Given the description of an element on the screen output the (x, y) to click on. 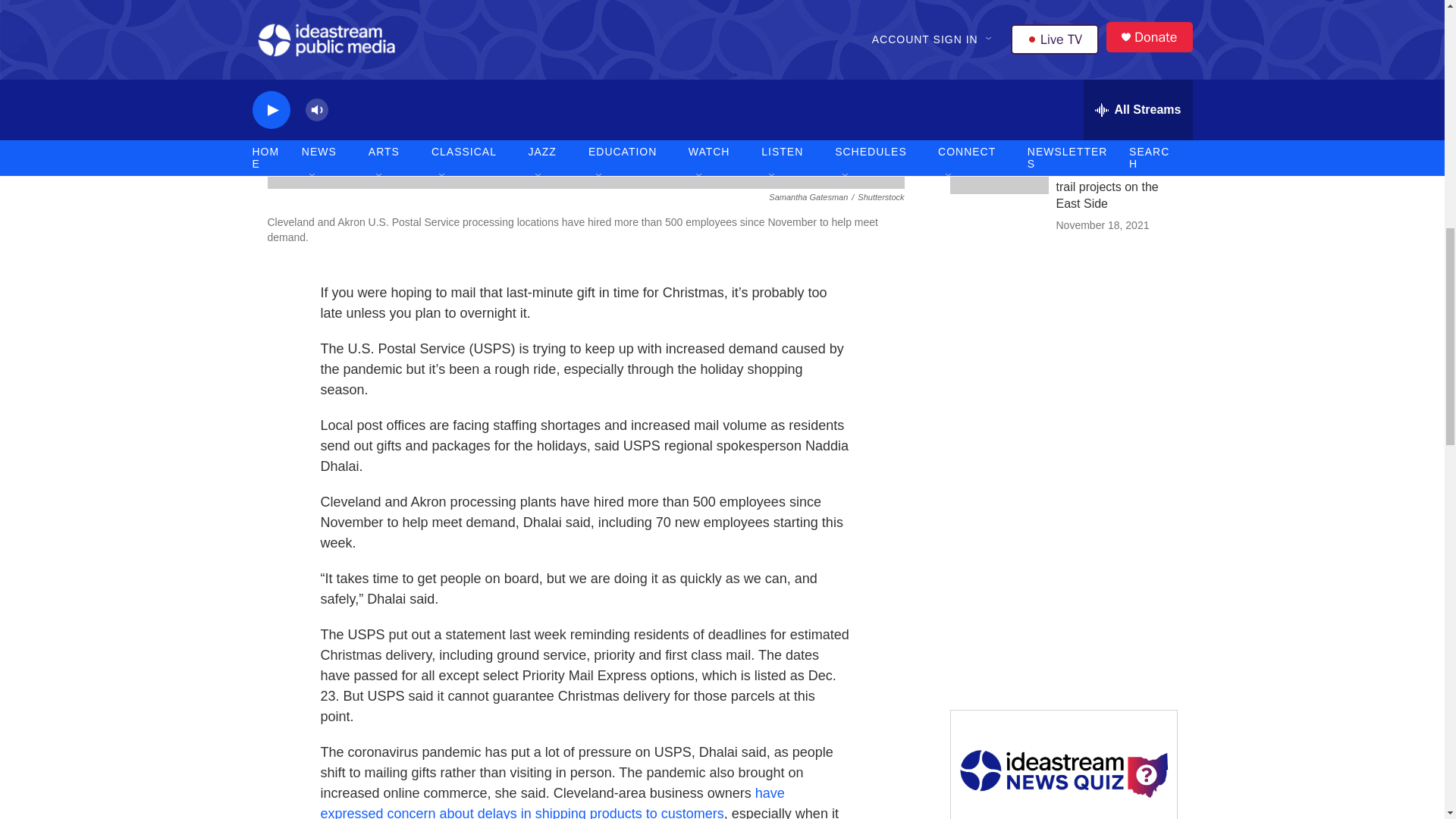
3rd party ad content (1062, 364)
3rd party ad content (1062, 584)
